Given the description of an element on the screen output the (x, y) to click on. 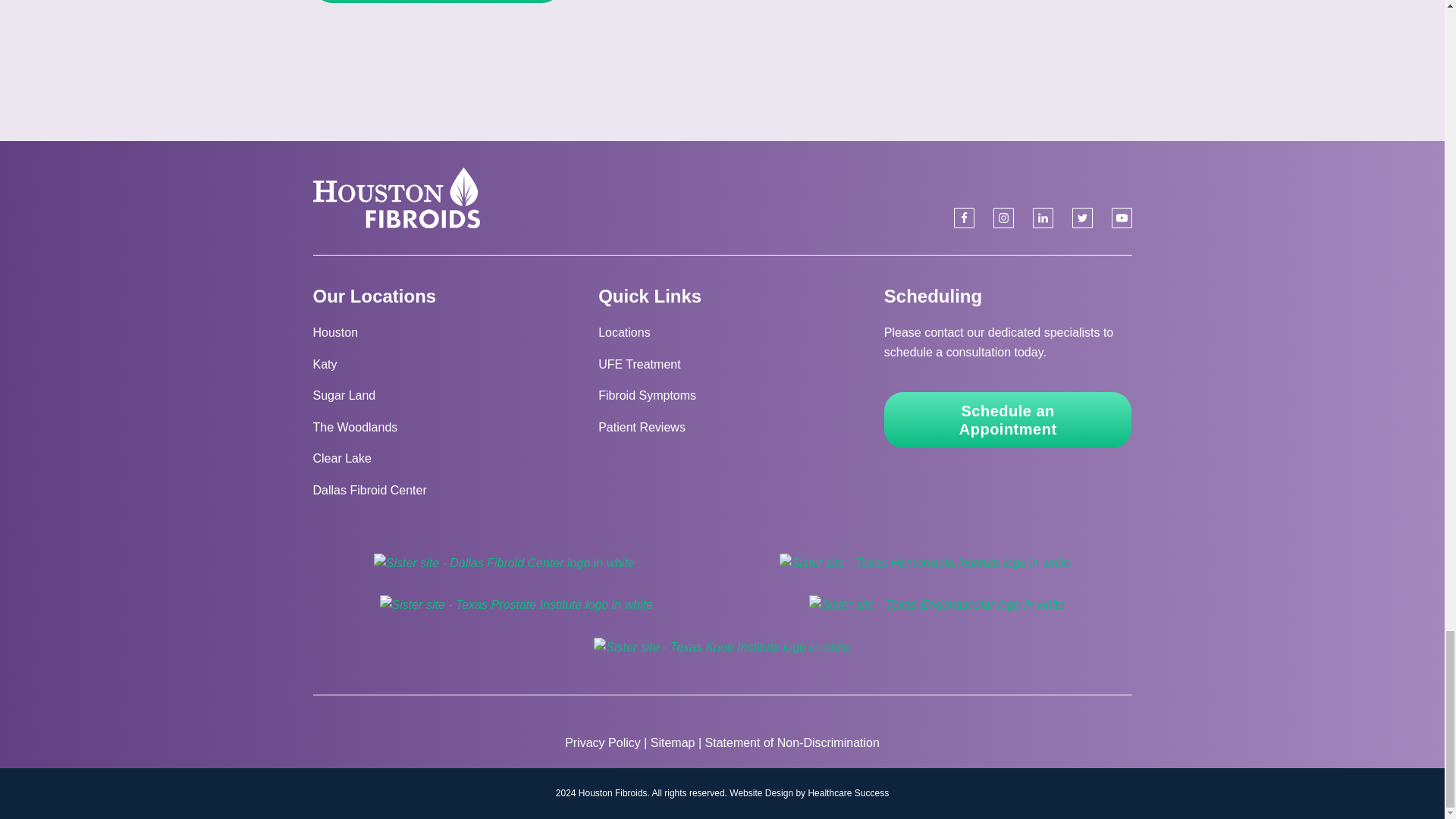
Schedule an Appointment (1007, 419)
Visit our Facebook page (963, 218)
Visit our LinkedIn page (1042, 218)
Clear Lake (342, 458)
Visit our Instagram page (1002, 218)
Sugar Land (344, 395)
Schedule an Appointment (436, 1)
Dallas Fibroid Center (369, 490)
Katy (324, 364)
The Woodlands (355, 427)
